Given the description of an element on the screen output the (x, y) to click on. 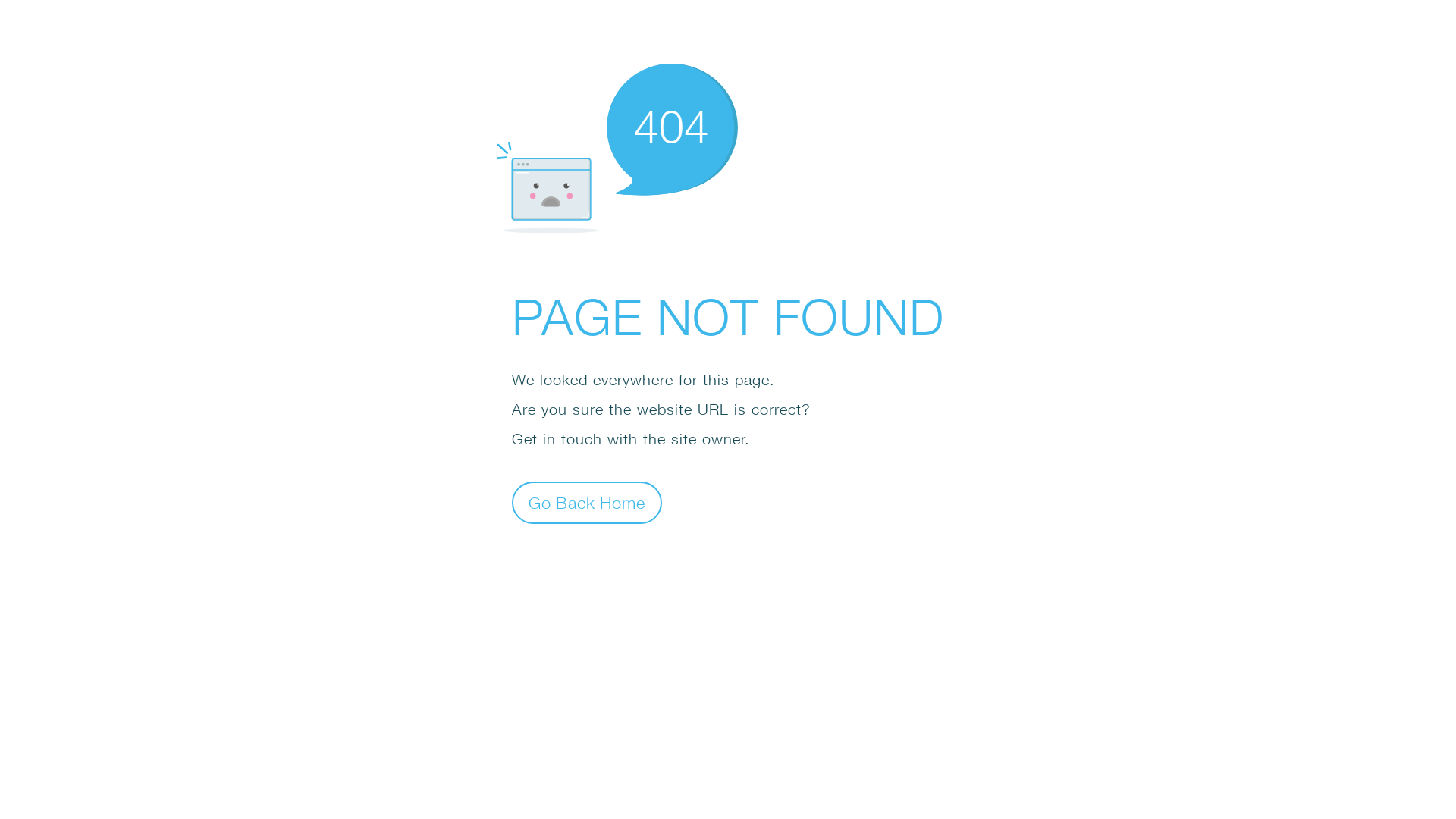
Go Back Home Element type: text (586, 502)
